Given the description of an element on the screen output the (x, y) to click on. 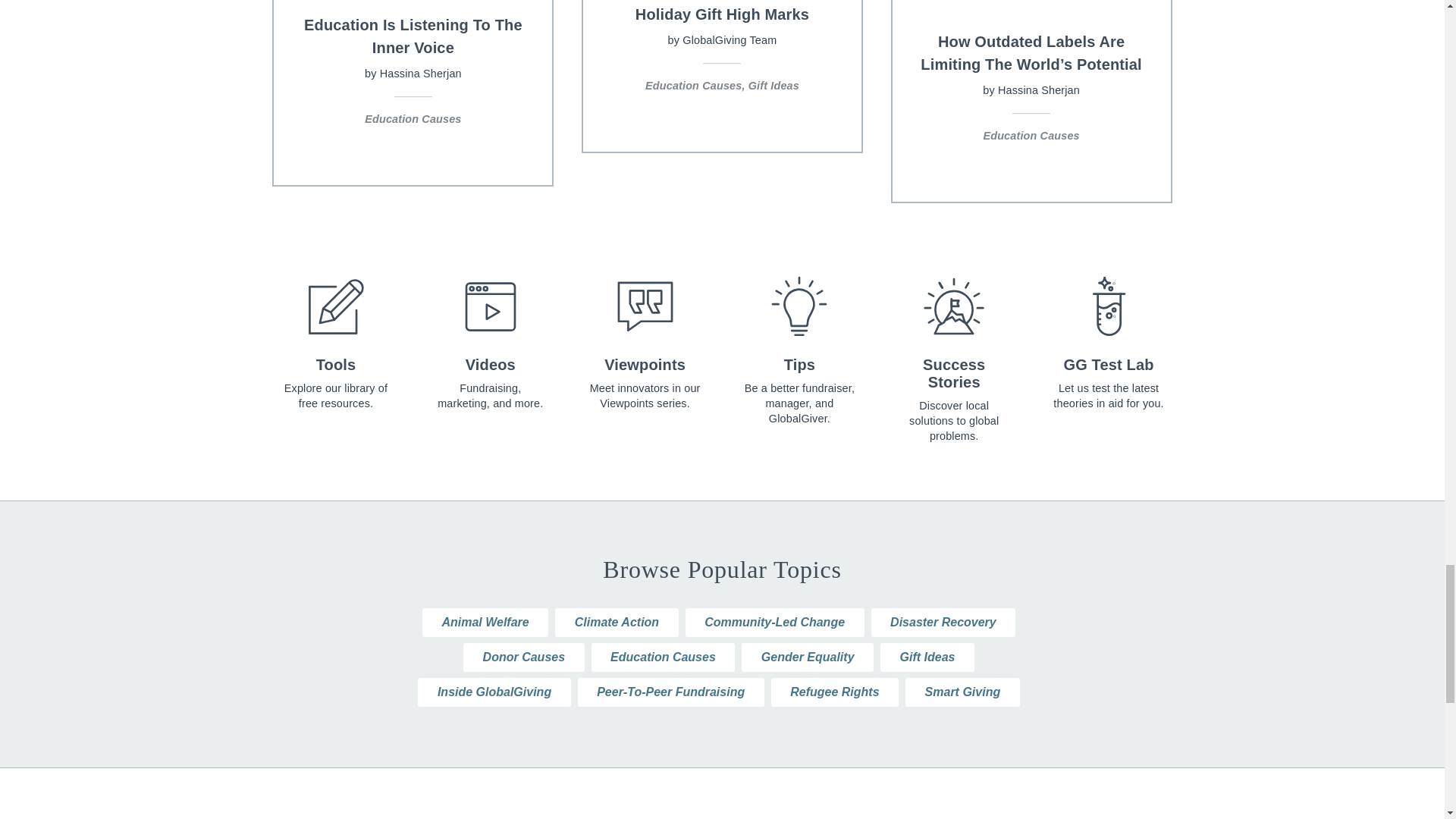
Posts by Hassina Sherjan (420, 73)
Posts by Hassina Sherjan (1038, 90)
Posts by GlobalGiving Team (729, 39)
